Given the description of an element on the screen output the (x, y) to click on. 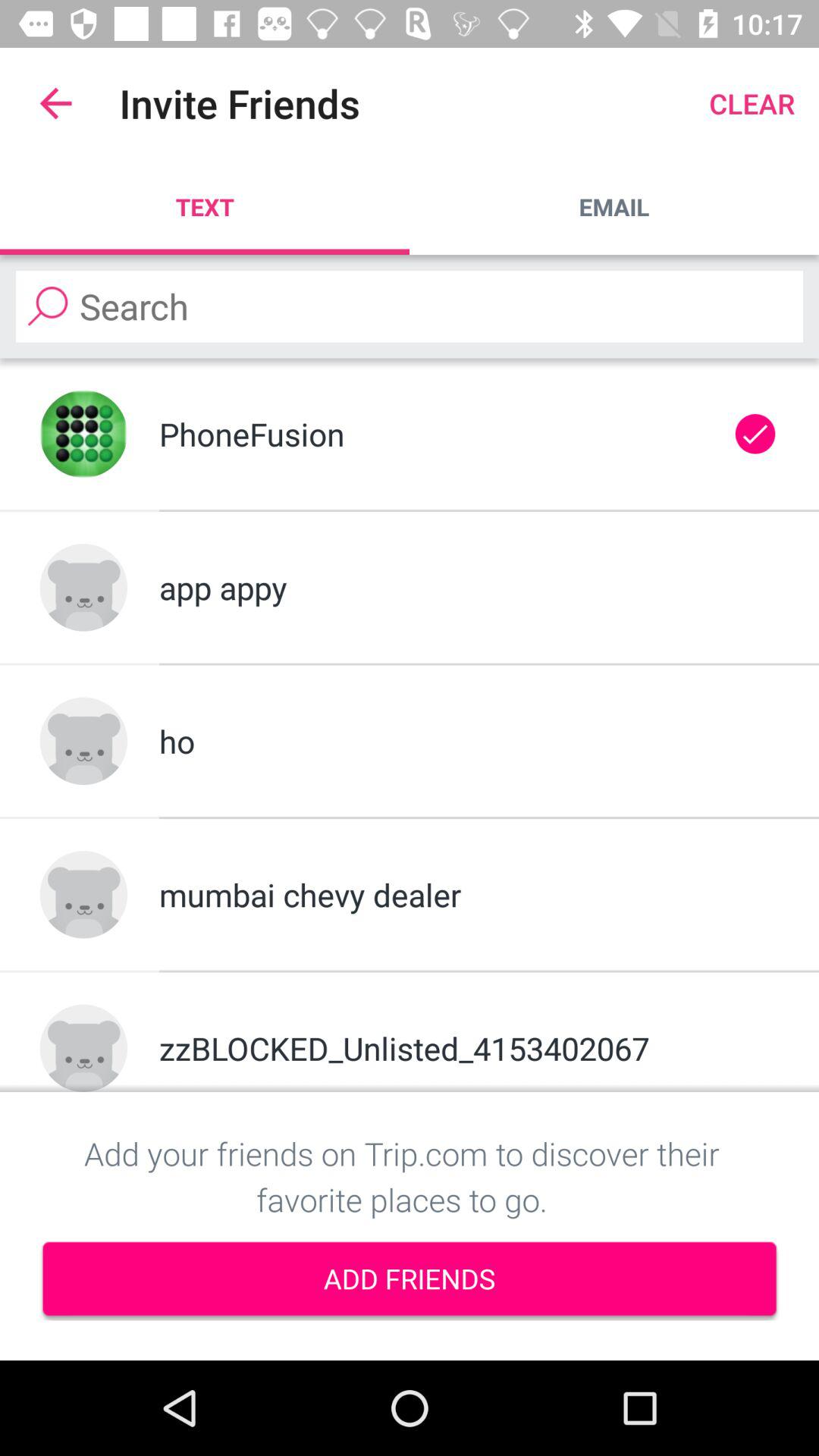
select phonefusion icon (435, 433)
